Given the description of an element on the screen output the (x, y) to click on. 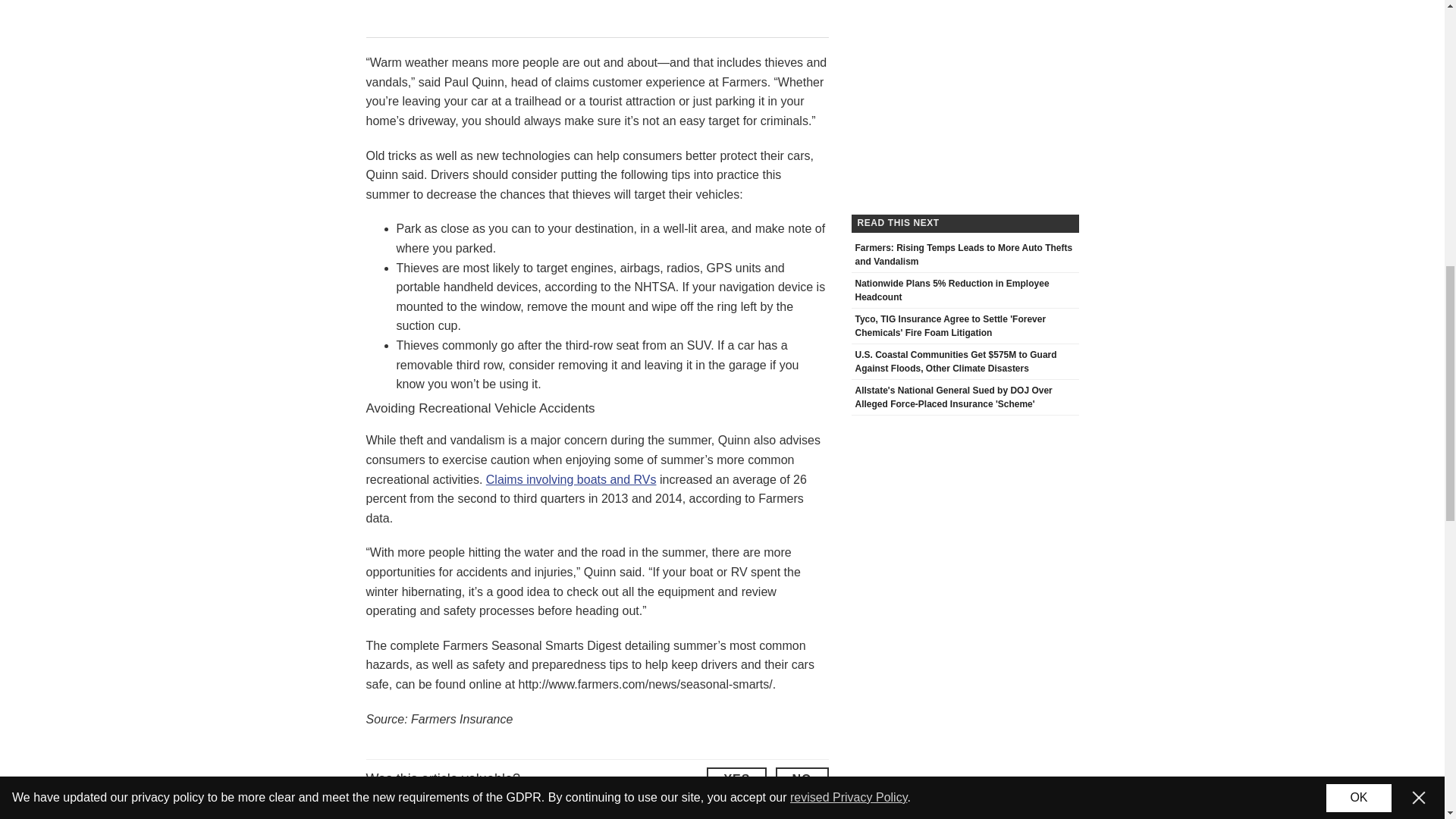
Claims involving boats and RVs (571, 479)
NO (801, 778)
YES (736, 778)
